Given the description of an element on the screen output the (x, y) to click on. 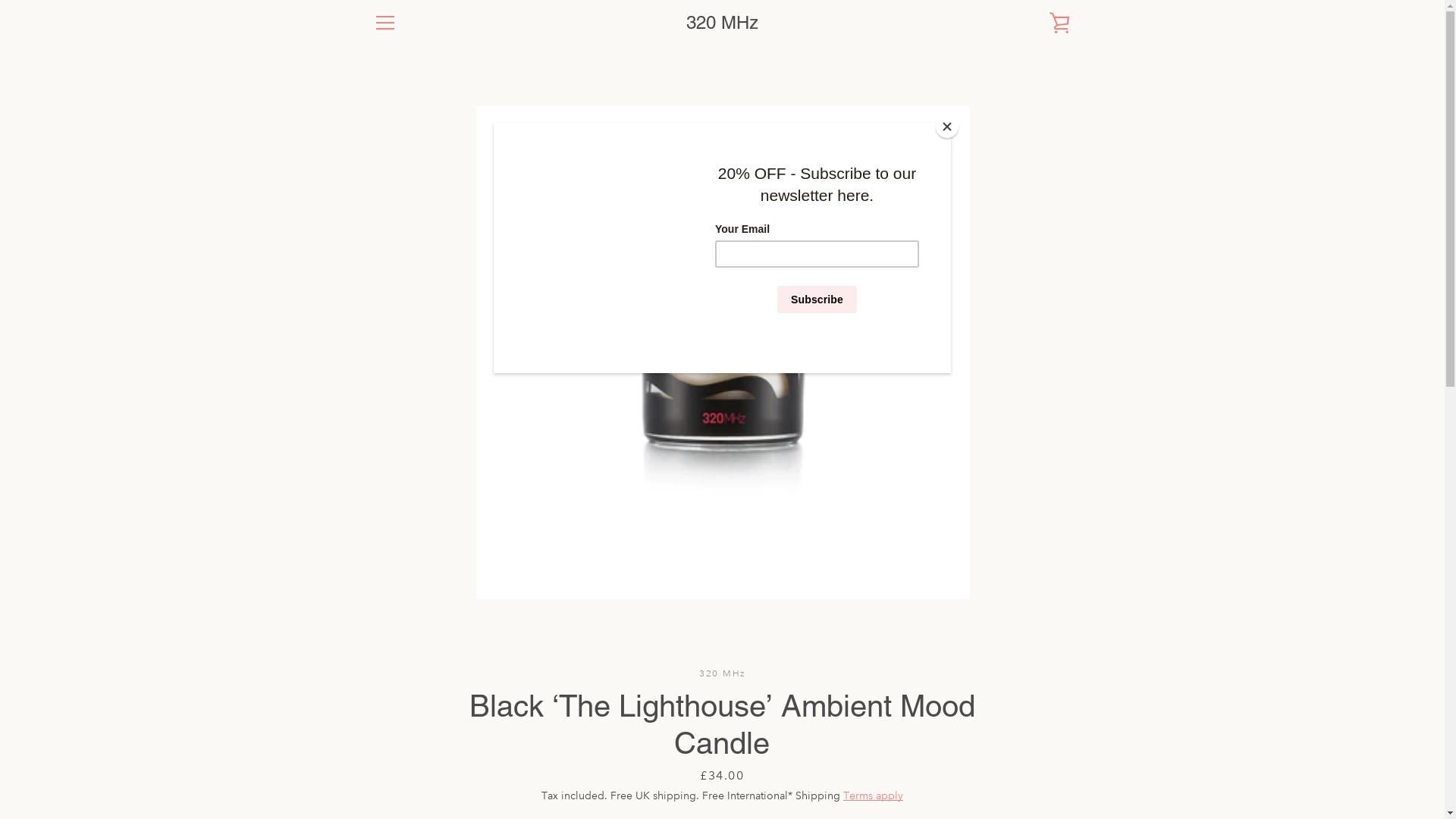
320 MHz Element type: text (722, 23)
Facebook Element type: text (372, 765)
Skip to content Element type: text (0, 0)
YouTube Element type: text (424, 765)
320 MHz Element type: text (717, 766)
SHIPPING & RETURN Element type: text (425, 609)
TERMS OF SERVICE Element type: text (421, 654)
SUBSCRIBE Element type: text (1031, 679)
MENU Element type: text (384, 22)
REFUND POLICY Element type: text (414, 677)
Powered by Shopify Element type: text (787, 766)
Terms apply Element type: text (873, 795)
Instagram Element type: text (398, 765)
T&C'S & PRIVACY POLICY Element type: text (438, 632)
VIEW CART Element type: text (1059, 22)
